Given the description of an element on the screen output the (x, y) to click on. 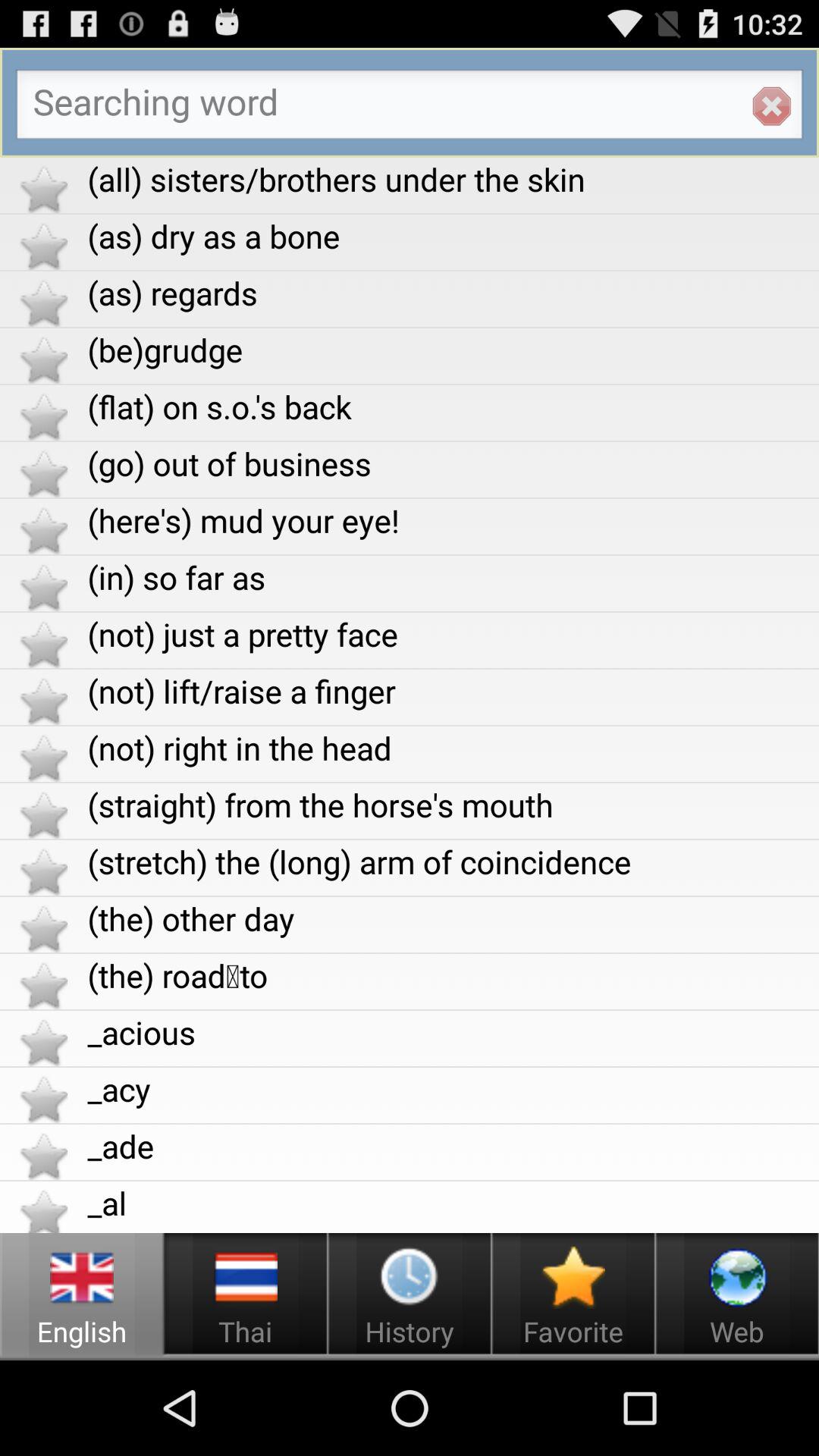
turn on the item below not lift raise item (453, 747)
